Given the description of an element on the screen output the (x, y) to click on. 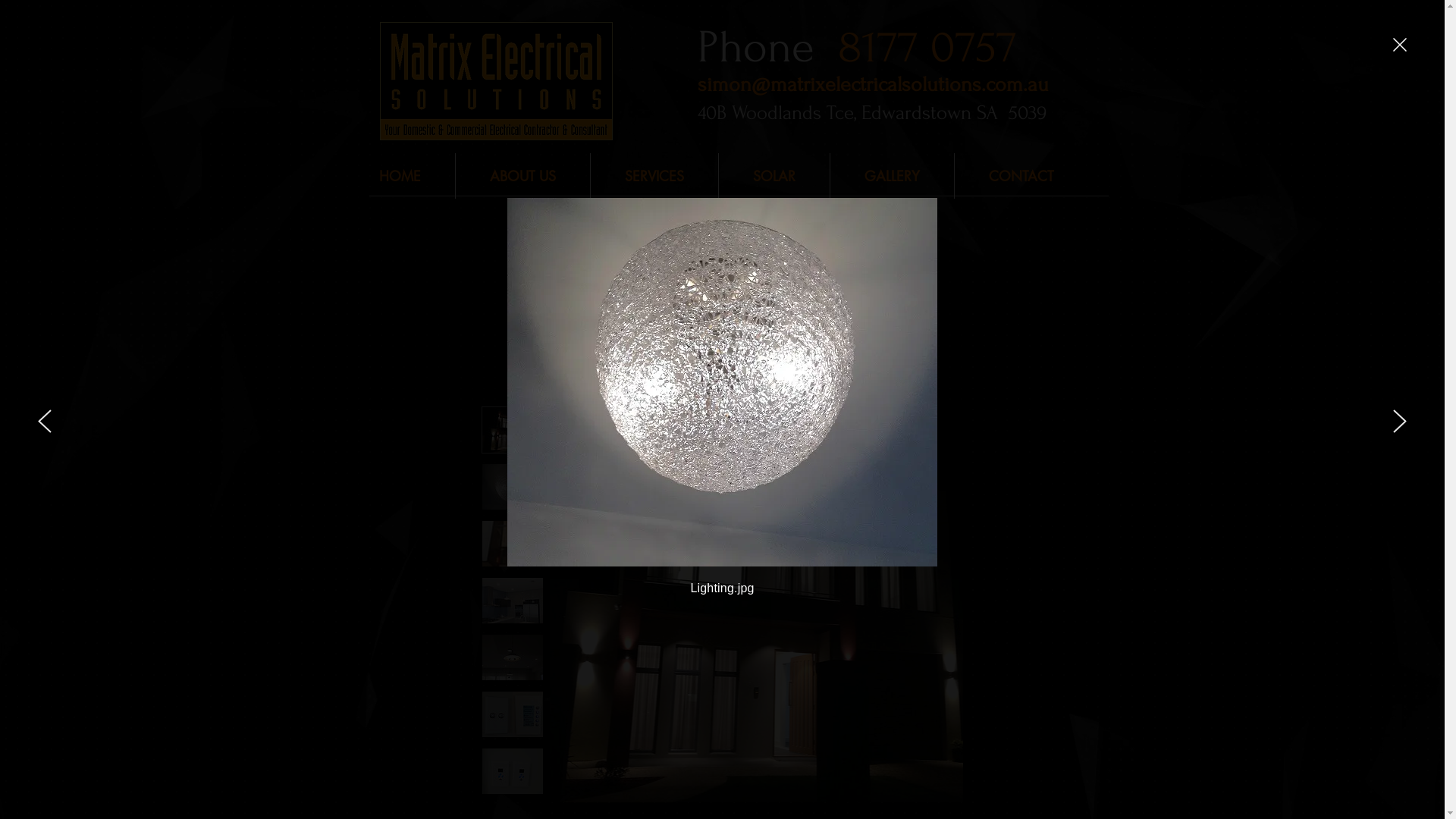
SERVICES Element type: text (653, 175)
CONTACT Element type: text (1019, 175)
HOME Element type: text (399, 175)
GALLERY Element type: text (891, 175)
ABOUT US Element type: text (522, 175)
matrix signage.png Element type: hover (495, 80)
SOLAR Element type: text (773, 175)
simon@matrixelectricalsolutions.com.au Element type: text (872, 84)
